Given the description of an element on the screen output the (x, y) to click on. 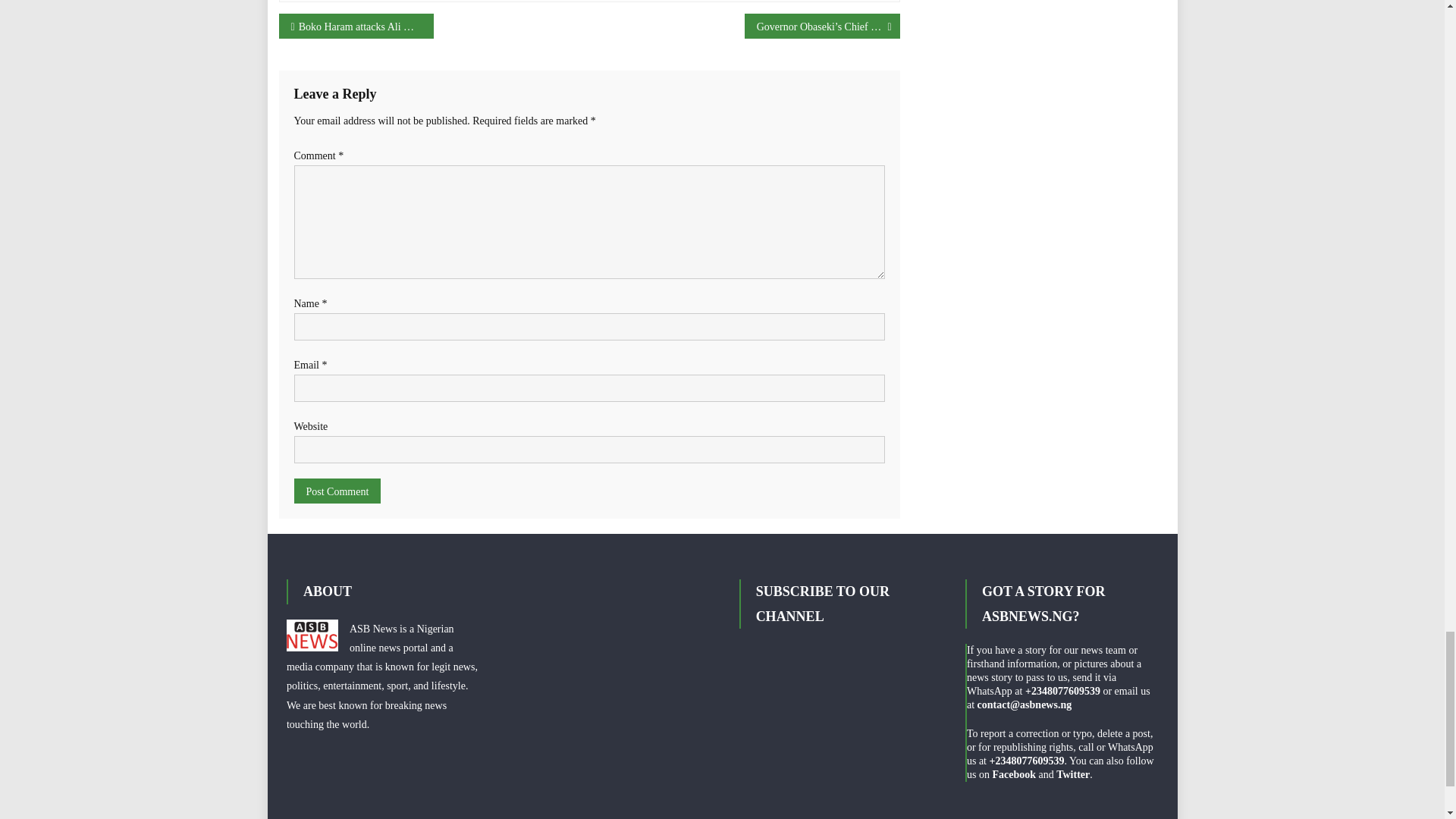
Post Comment (337, 490)
